Given the description of an element on the screen output the (x, y) to click on. 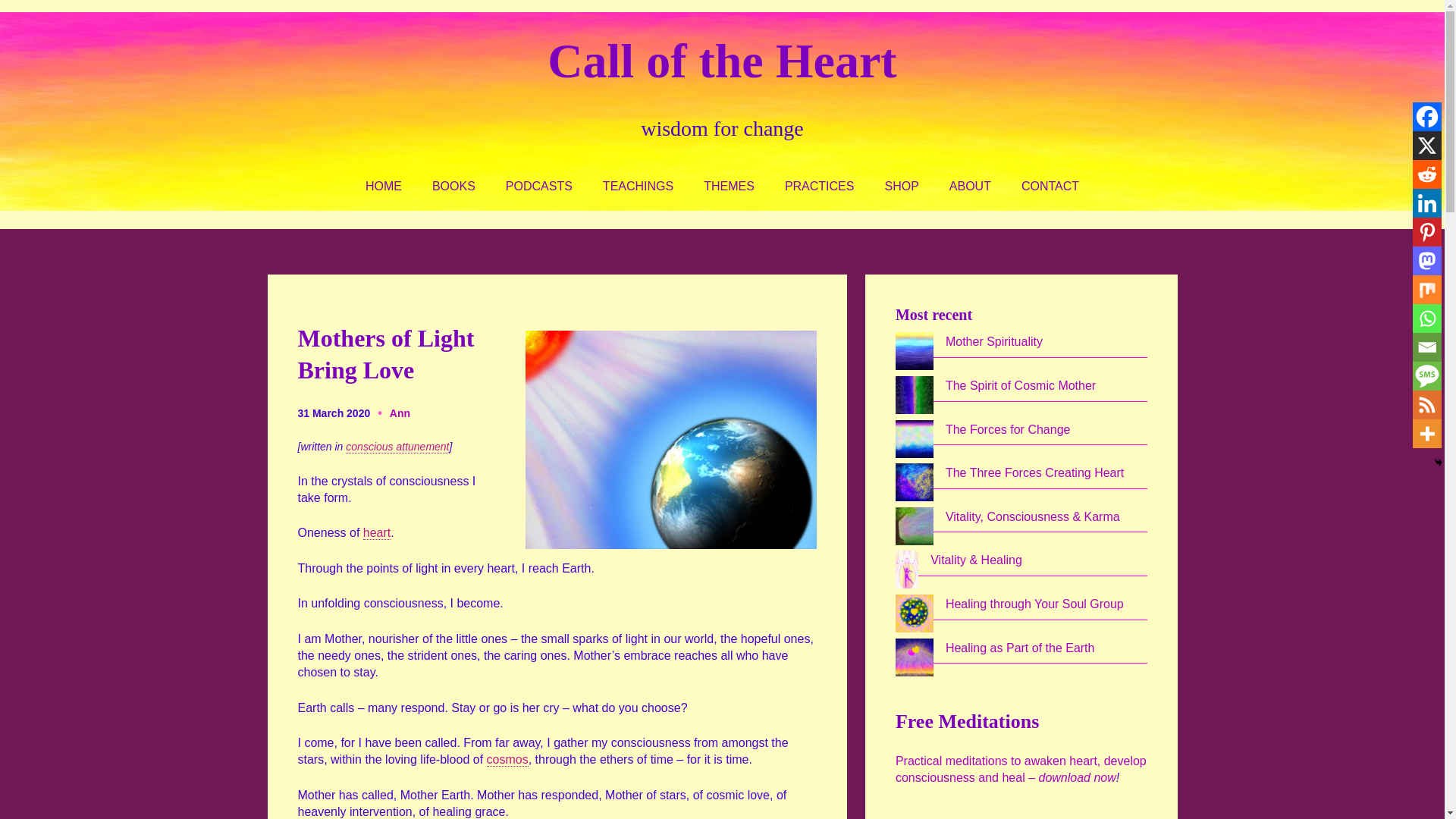
BOOKS (454, 186)
THEMES (728, 186)
Facebook (1426, 116)
Reddit (1426, 174)
CONTACT (1050, 186)
PODCASTS (538, 186)
ABOUT (970, 186)
heart (376, 532)
X (1426, 145)
Ann (400, 413)
